Given the description of an element on the screen output the (x, y) to click on. 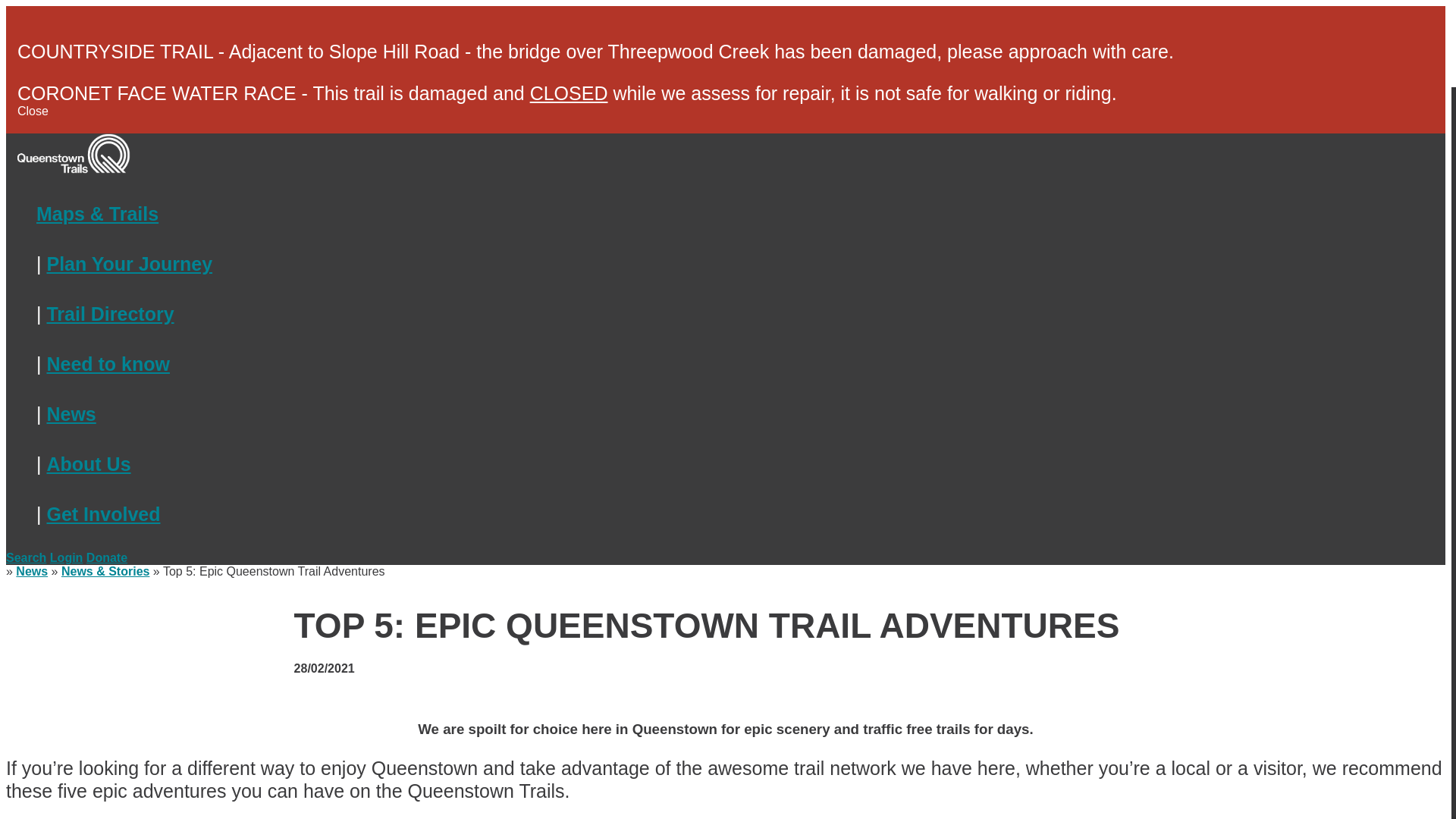
Trail Directory (109, 313)
Plan Your Journey (129, 263)
Trail Directory (109, 313)
Need to know (108, 363)
Plan Your Journey (129, 263)
News (71, 414)
